Given the description of an element on the screen output the (x, y) to click on. 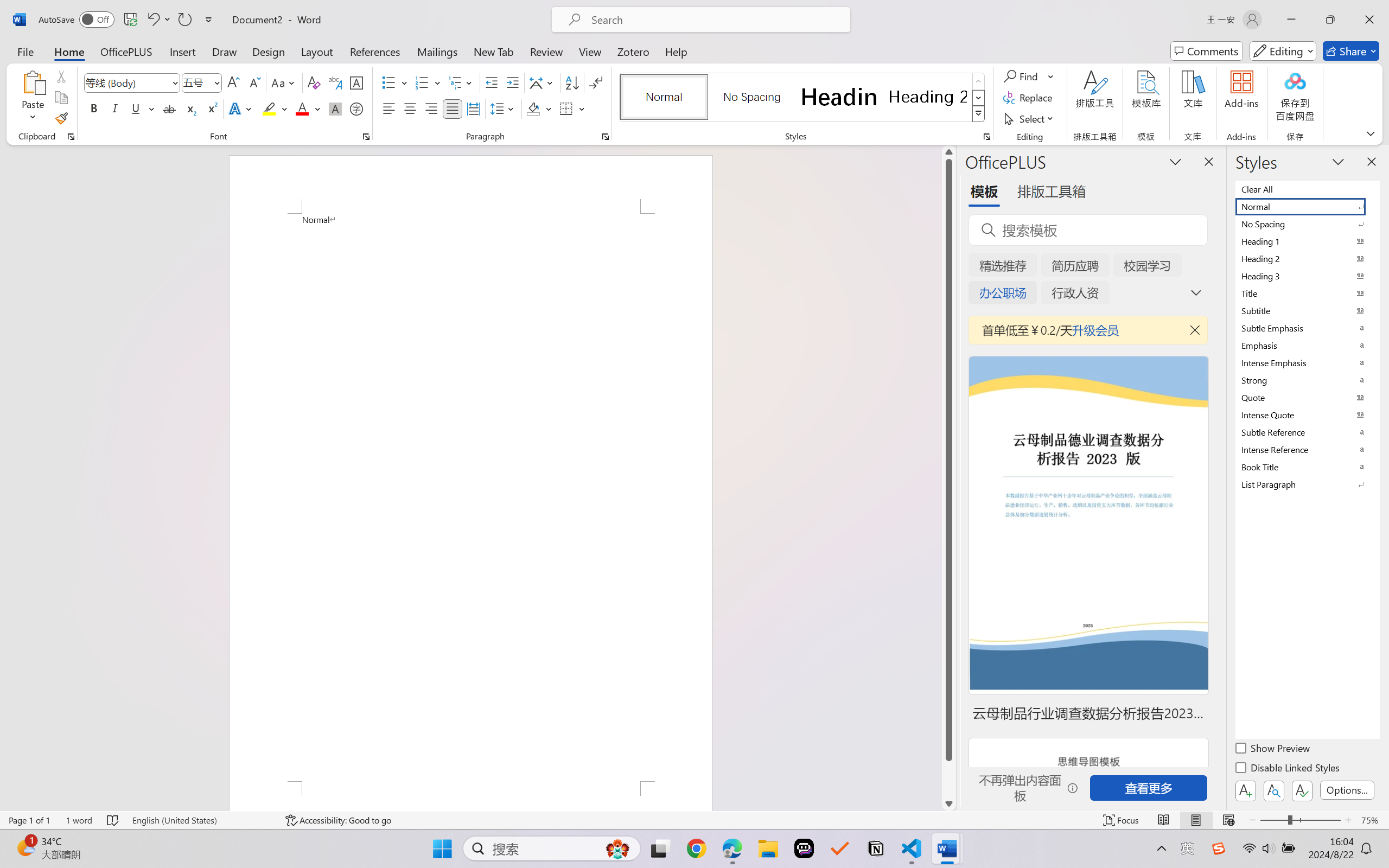
Subtle Emphasis (1306, 327)
Insert (182, 51)
Disable Linked Styles (1287, 769)
Spelling and Grammar Check No Errors (113, 819)
Grow Font (233, 82)
Microsoft search (715, 19)
Class: MsoCommandBar (694, 819)
Share (1350, 51)
Strikethrough (169, 108)
Text Highlight Color (274, 108)
Justify (452, 108)
Intense Emphasis (1306, 362)
Page 1 content (470, 497)
Undo Apply Quick Style (152, 19)
